Given the description of an element on the screen output the (x, y) to click on. 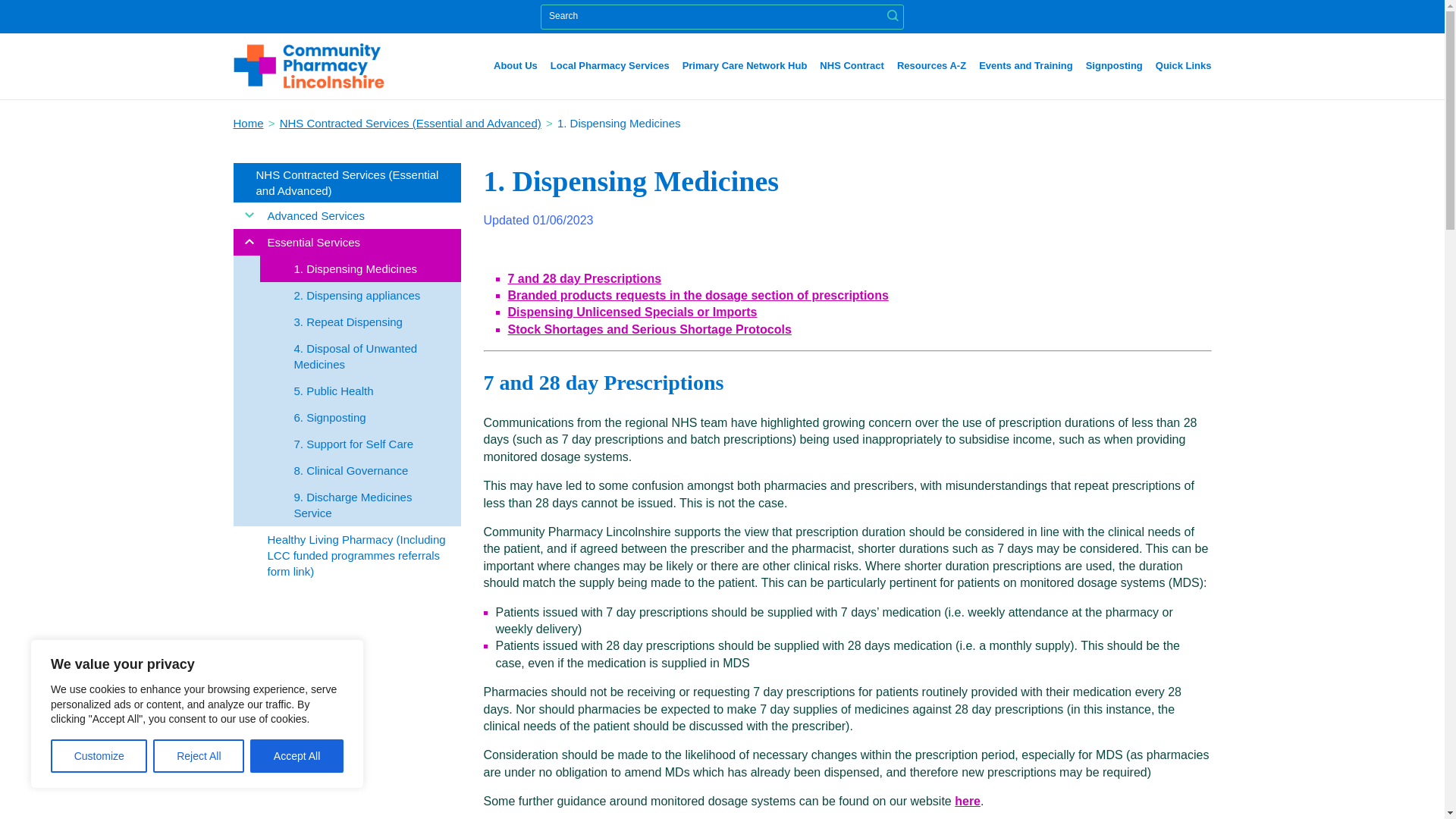
Local Pharmacy Services (609, 65)
About Us (515, 65)
Reject All (198, 756)
Accept All (296, 756)
Customize (98, 756)
